Given the description of an element on the screen output the (x, y) to click on. 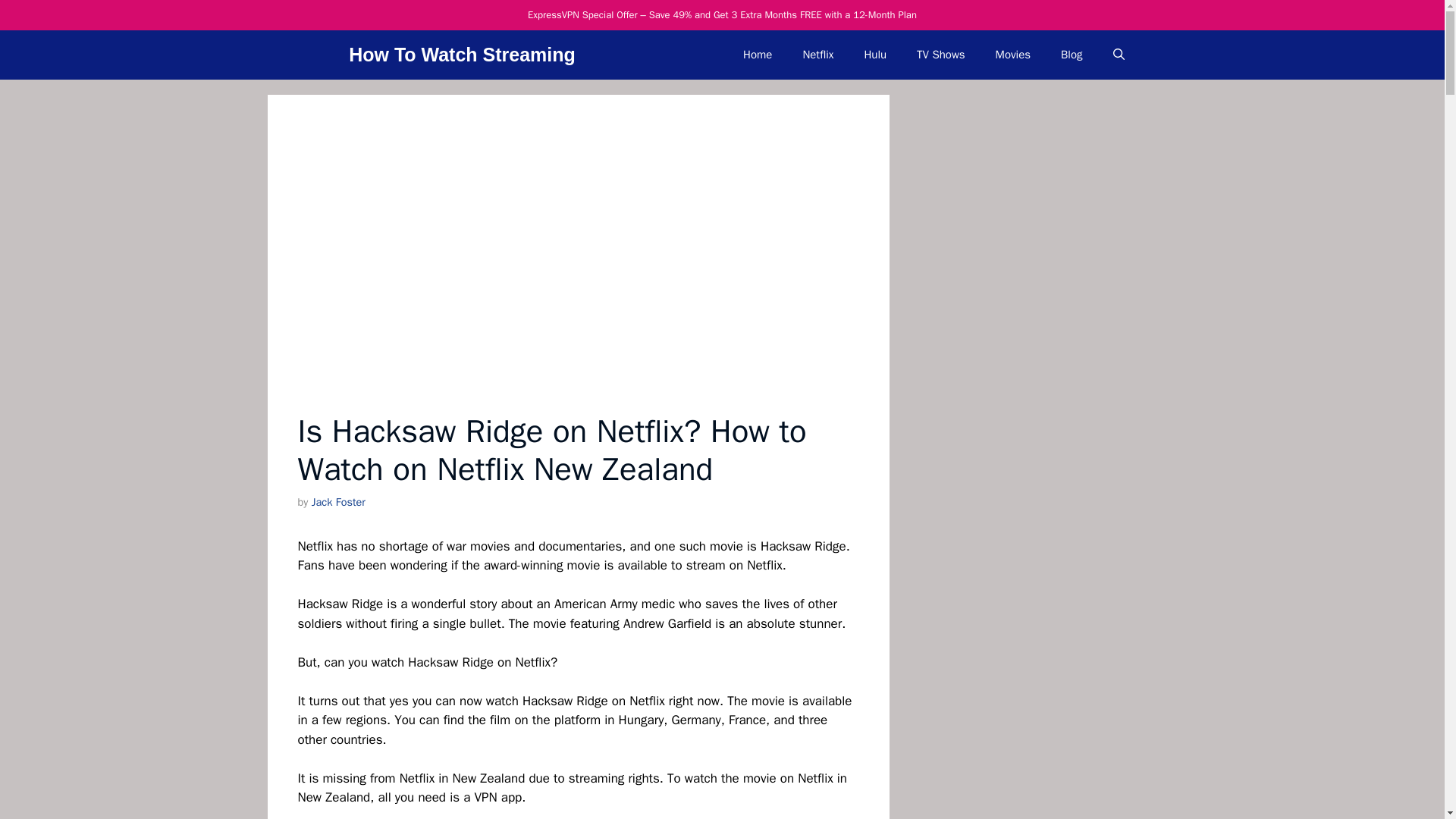
Home (757, 53)
Netflix (817, 53)
Blog (1071, 53)
View all posts by Jack Foster (338, 501)
Jack Foster (338, 501)
Hulu (874, 53)
TV Shows (940, 53)
How To Watch Streaming (462, 54)
Movies (1012, 53)
